Given the description of an element on the screen output the (x, y) to click on. 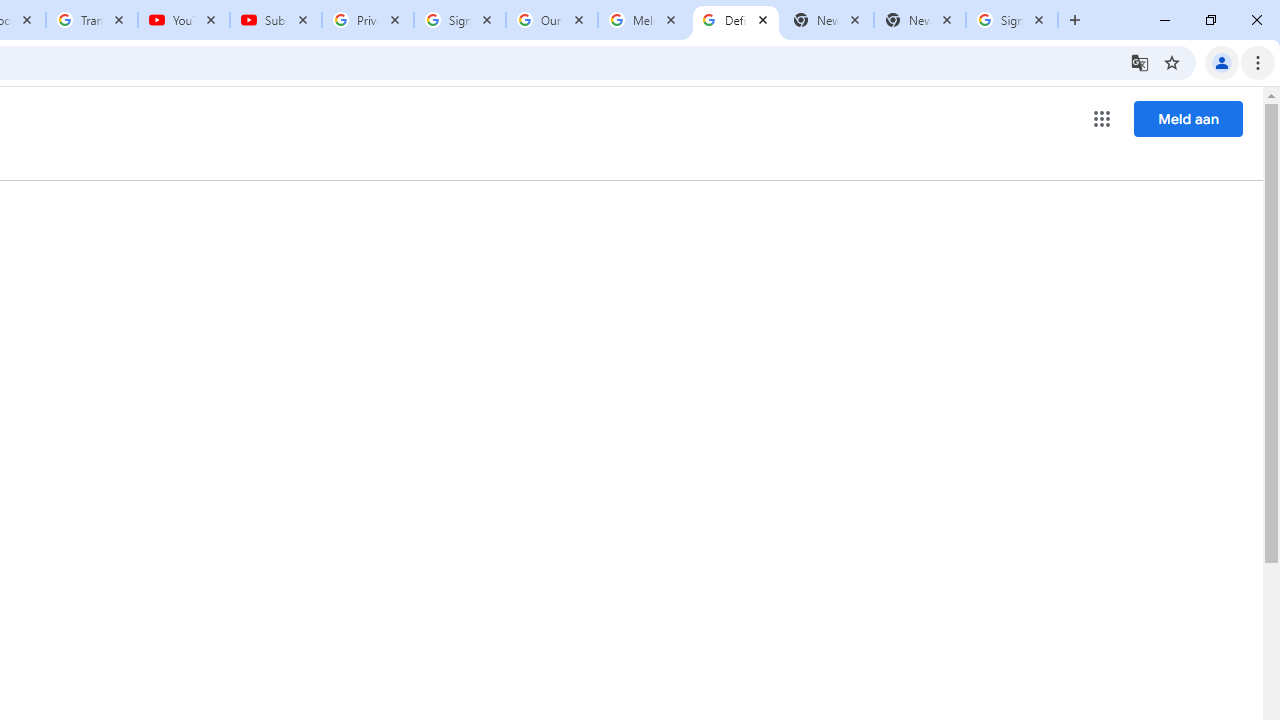
Translate this page (1139, 62)
